Given the description of an element on the screen output the (x, y) to click on. 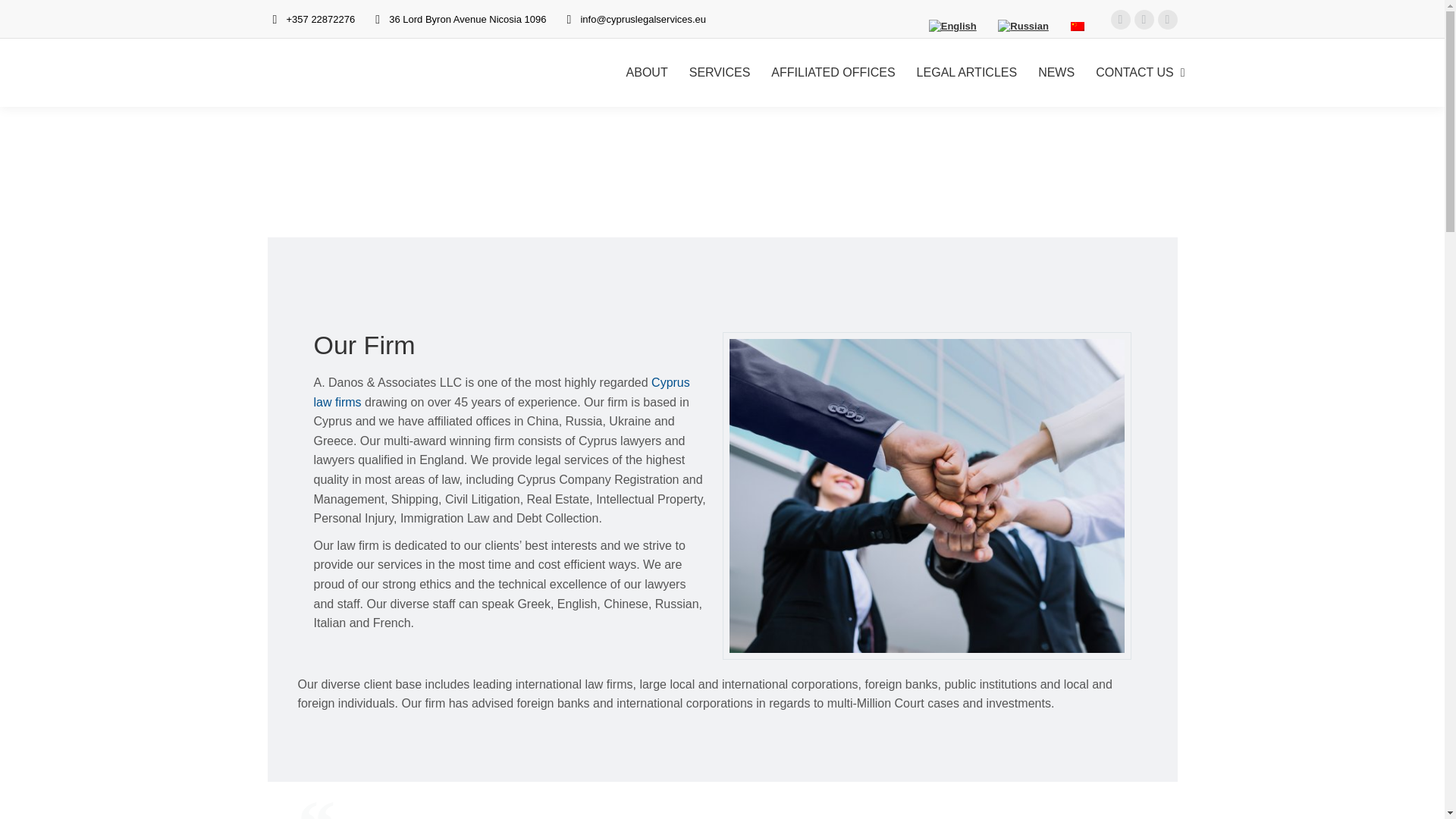
X page opens in new window (1166, 19)
SERVICES (719, 72)
CONTACT US (1134, 72)
ABOUT (647, 72)
Linkedin page opens in new window (1144, 19)
LEGAL ARTICLES (967, 72)
NEWS (1056, 72)
Facebook page opens in new window (1119, 19)
AFFILIATED OFFICES (833, 72)
Cyprus Law Firms (502, 391)
Go! (24, 15)
